Given the description of an element on the screen output the (x, y) to click on. 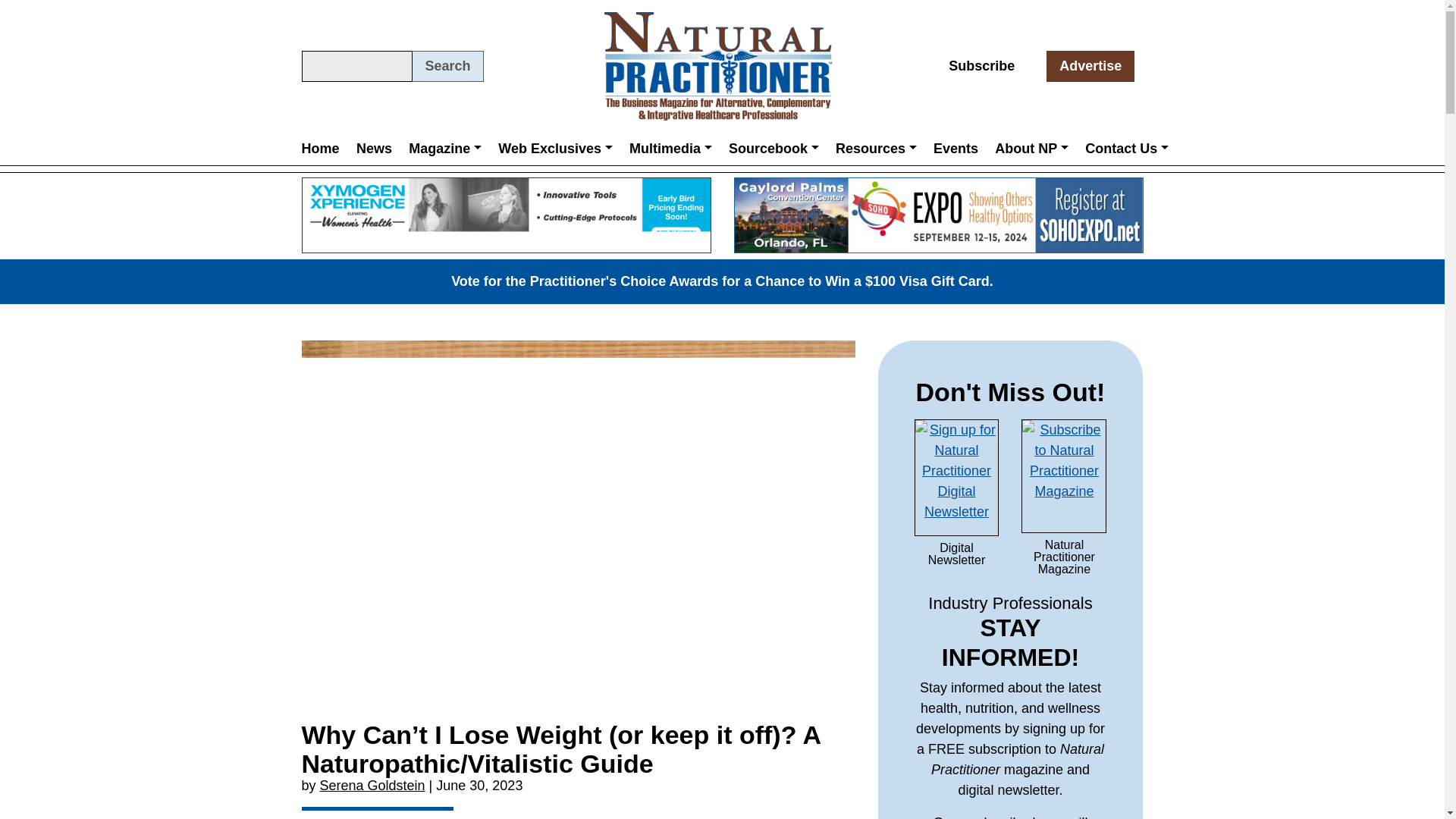
Search (447, 65)
Magazine (444, 147)
Multimedia (670, 147)
About NP (1032, 147)
Sourcebook (773, 147)
Web Exclusives (555, 147)
Resources (875, 147)
News (373, 147)
Web Exclusives (555, 147)
Subscribe (982, 65)
